Given the description of an element on the screen output the (x, y) to click on. 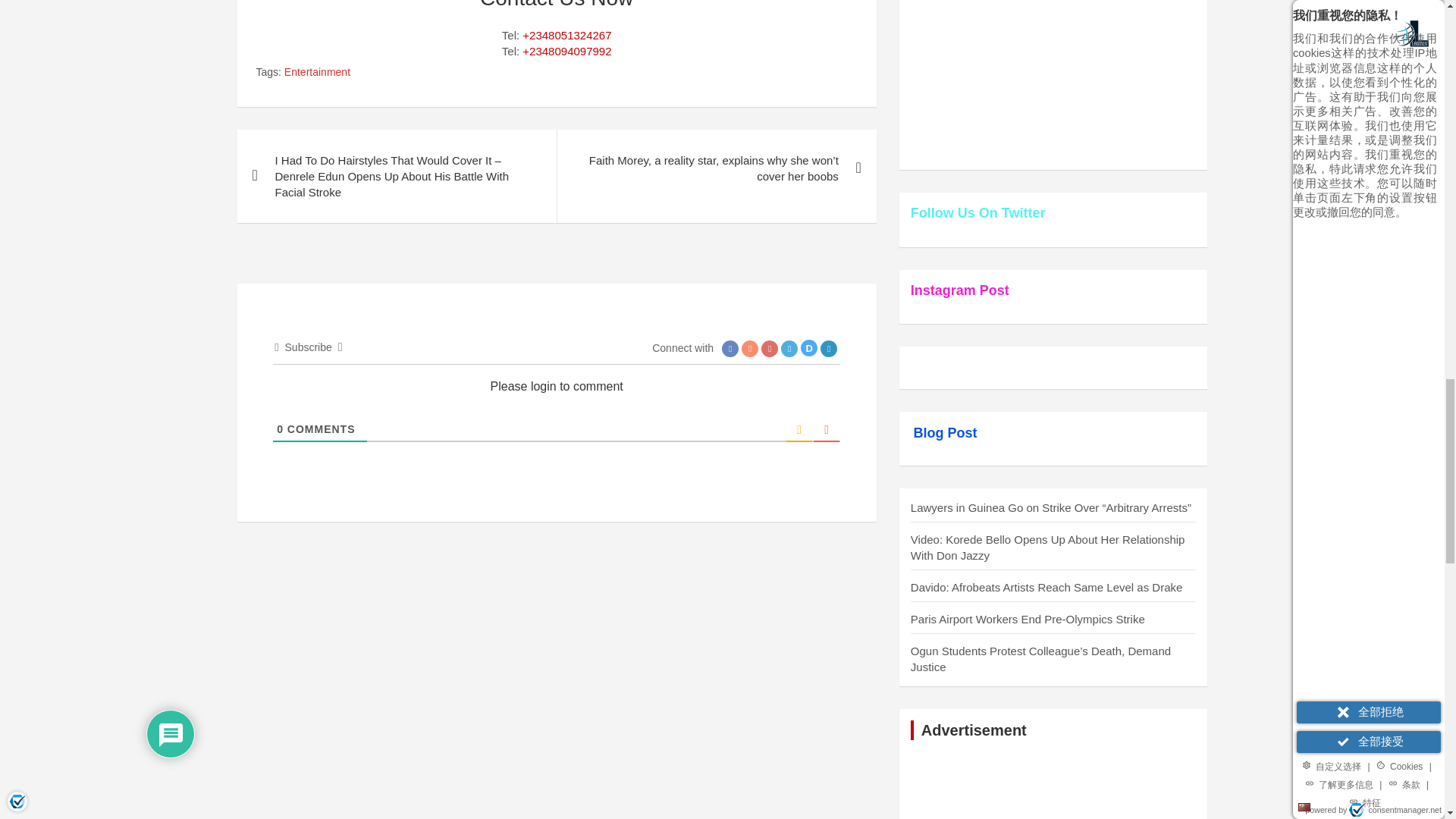
0 (279, 428)
